Given the description of an element on the screen output the (x, y) to click on. 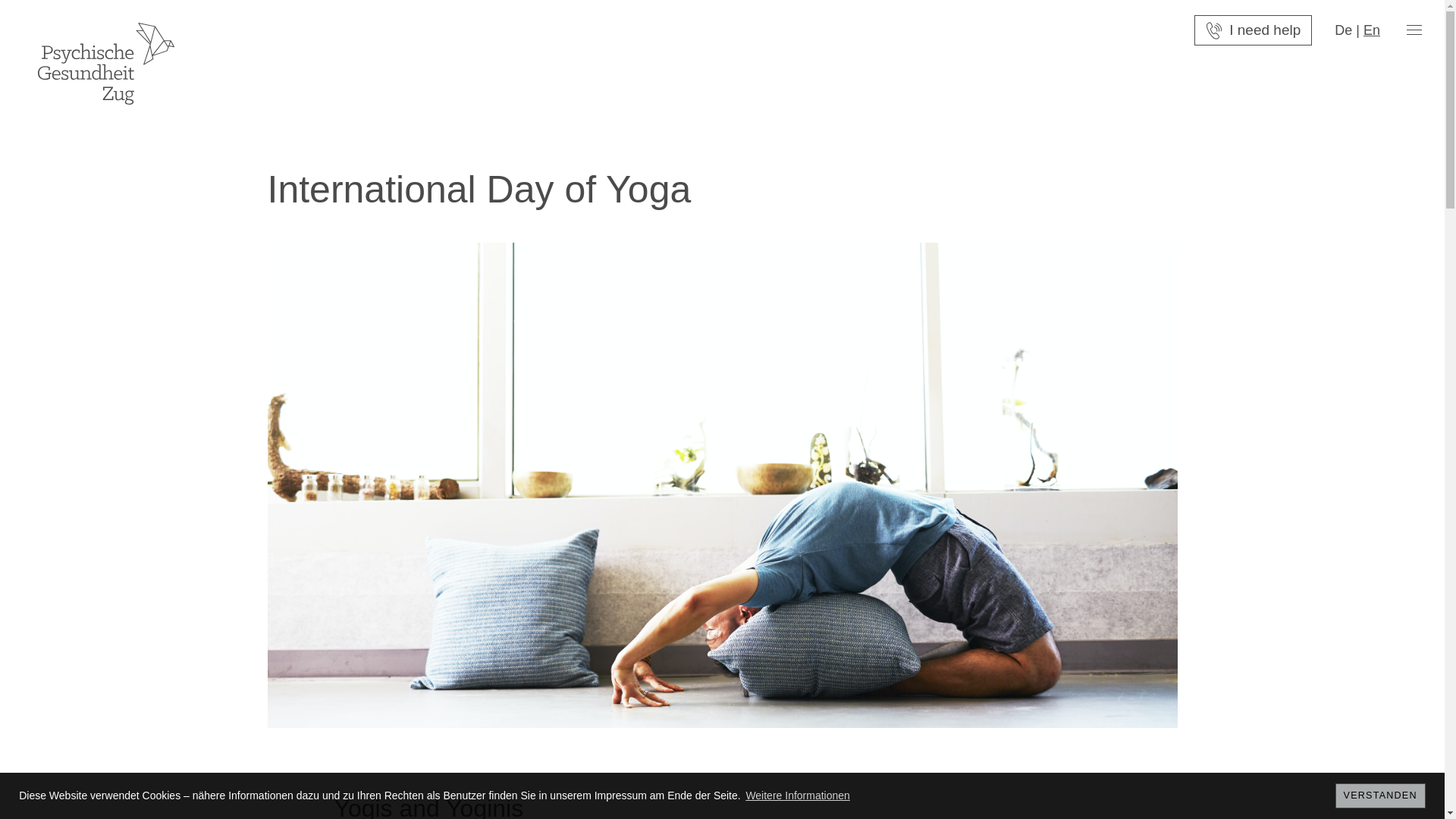
I need help (1252, 30)
De (1343, 29)
Weitere Informationen (797, 795)
Deutsch (1343, 29)
En (1371, 29)
Englisch (1371, 29)
VERSTANDEN (1380, 795)
